Given the description of an element on the screen output the (x, y) to click on. 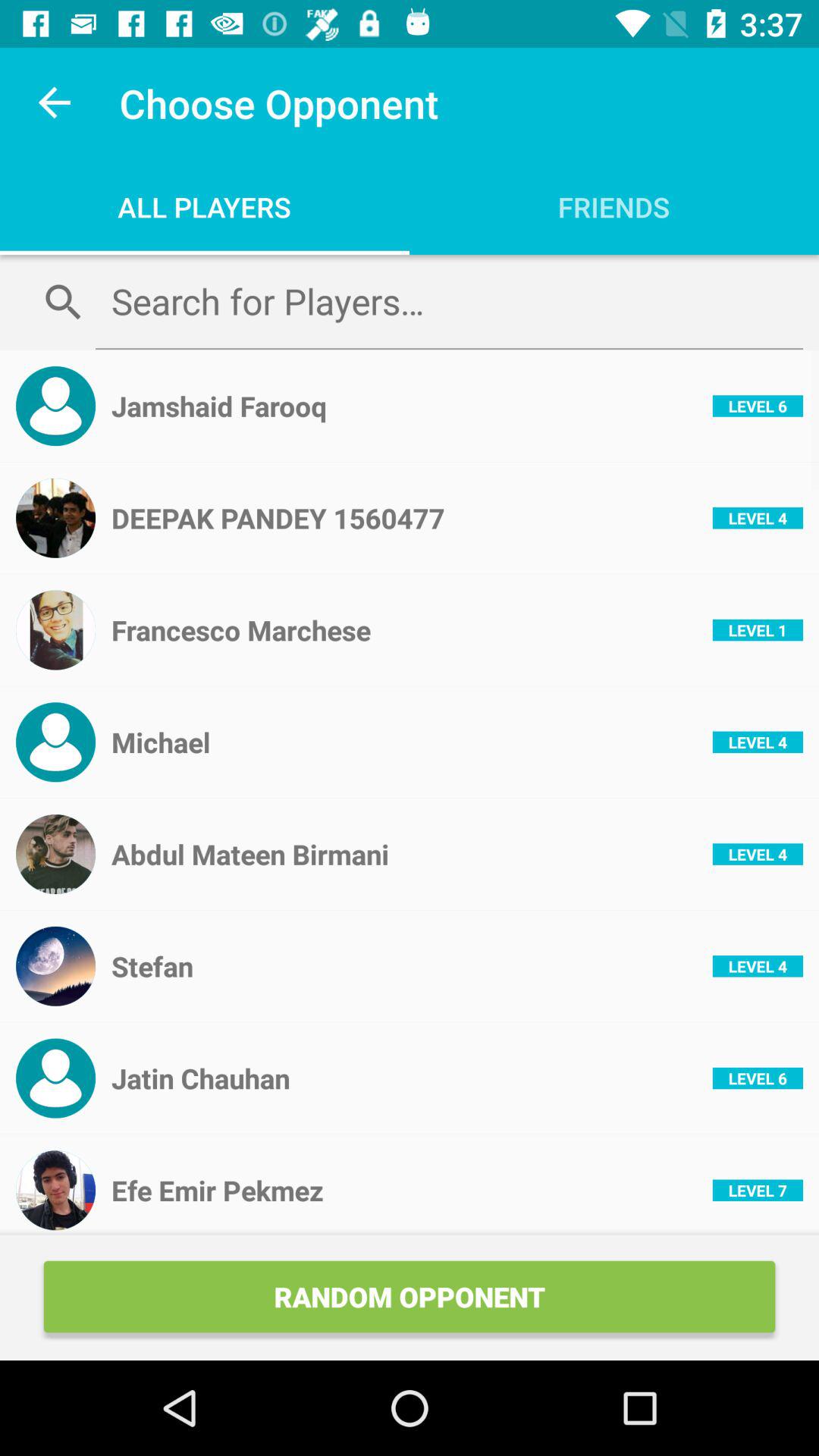
launch item to the left of choose opponent icon (55, 103)
